Given the description of an element on the screen output the (x, y) to click on. 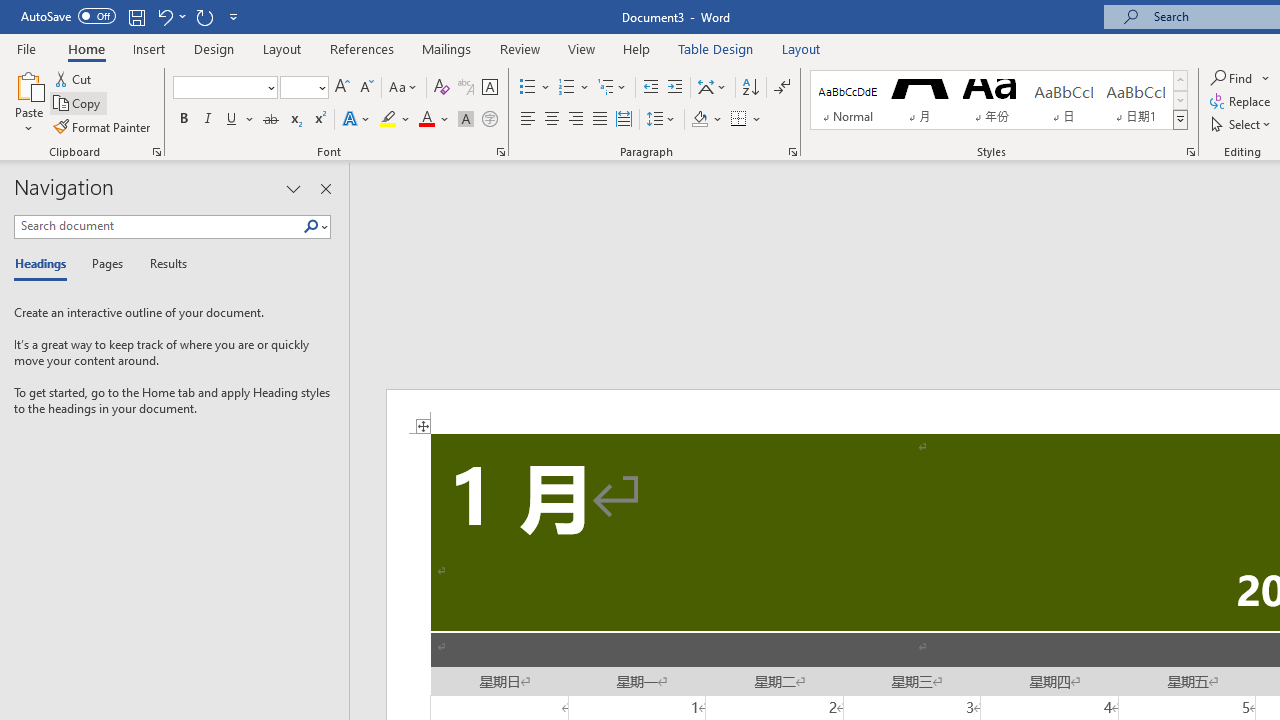
Font Color RGB(255, 0, 0) (426, 119)
